Given the description of an element on the screen output the (x, y) to click on. 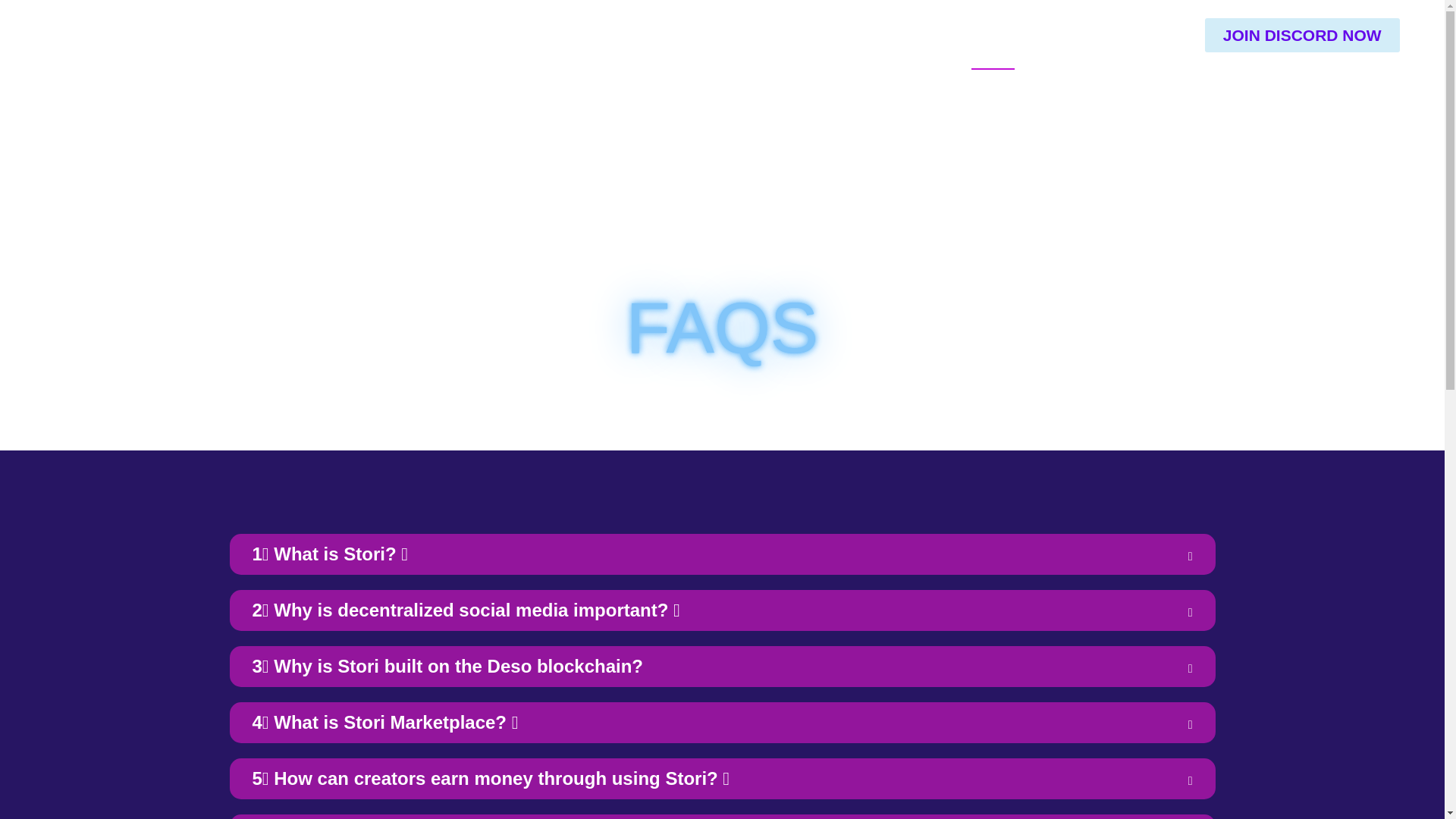
Stori Marketplace (729, 34)
Contact Us (1142, 34)
About NFT (850, 34)
Features (614, 34)
JOIN DISCORD NOW (1302, 35)
